Given the description of an element on the screen output the (x, y) to click on. 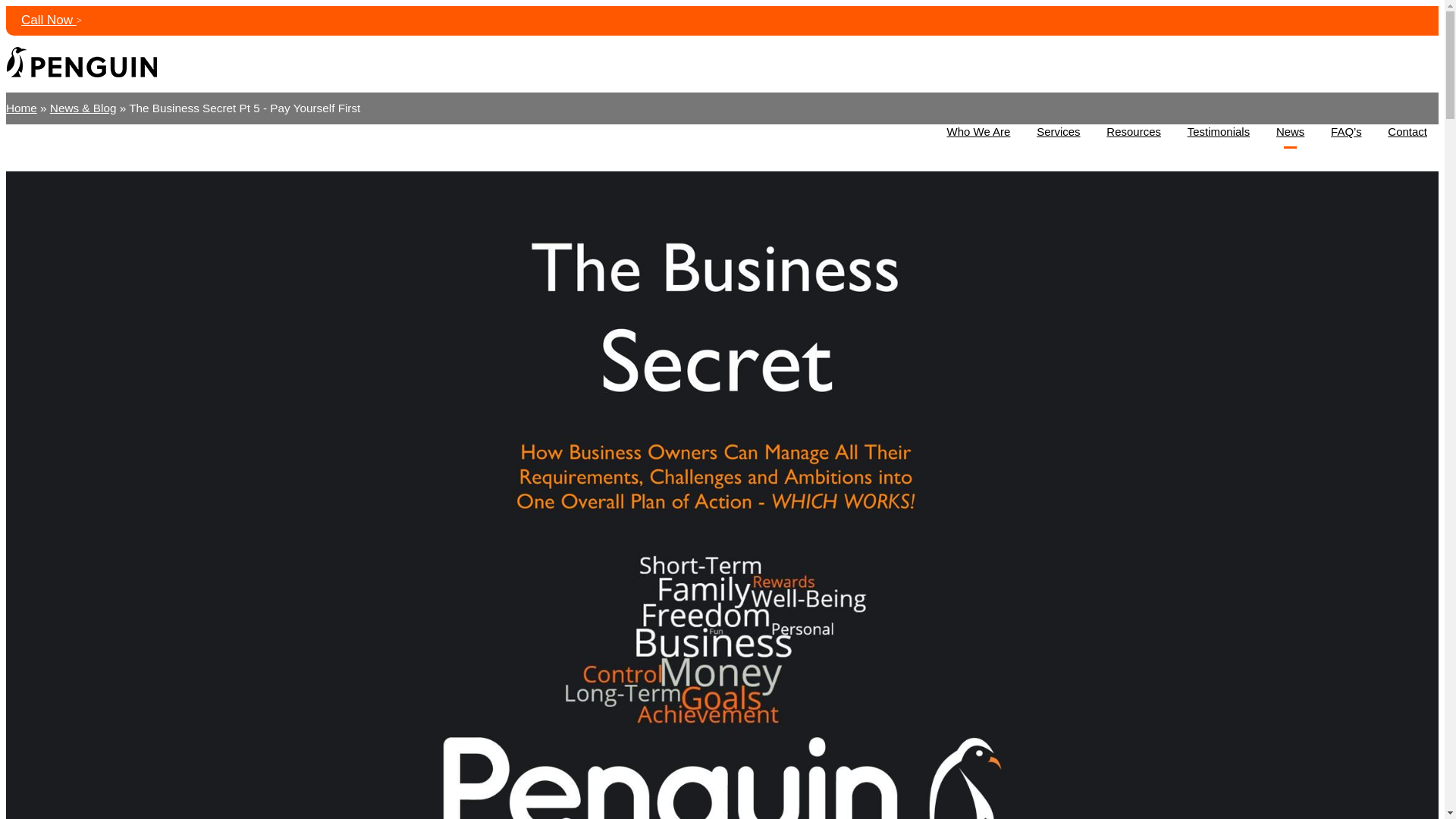
Who We Are (979, 131)
Testimonials (1218, 131)
Resources (1133, 131)
Services (1057, 131)
News (1290, 131)
Home (21, 107)
